Given the description of an element on the screen output the (x, y) to click on. 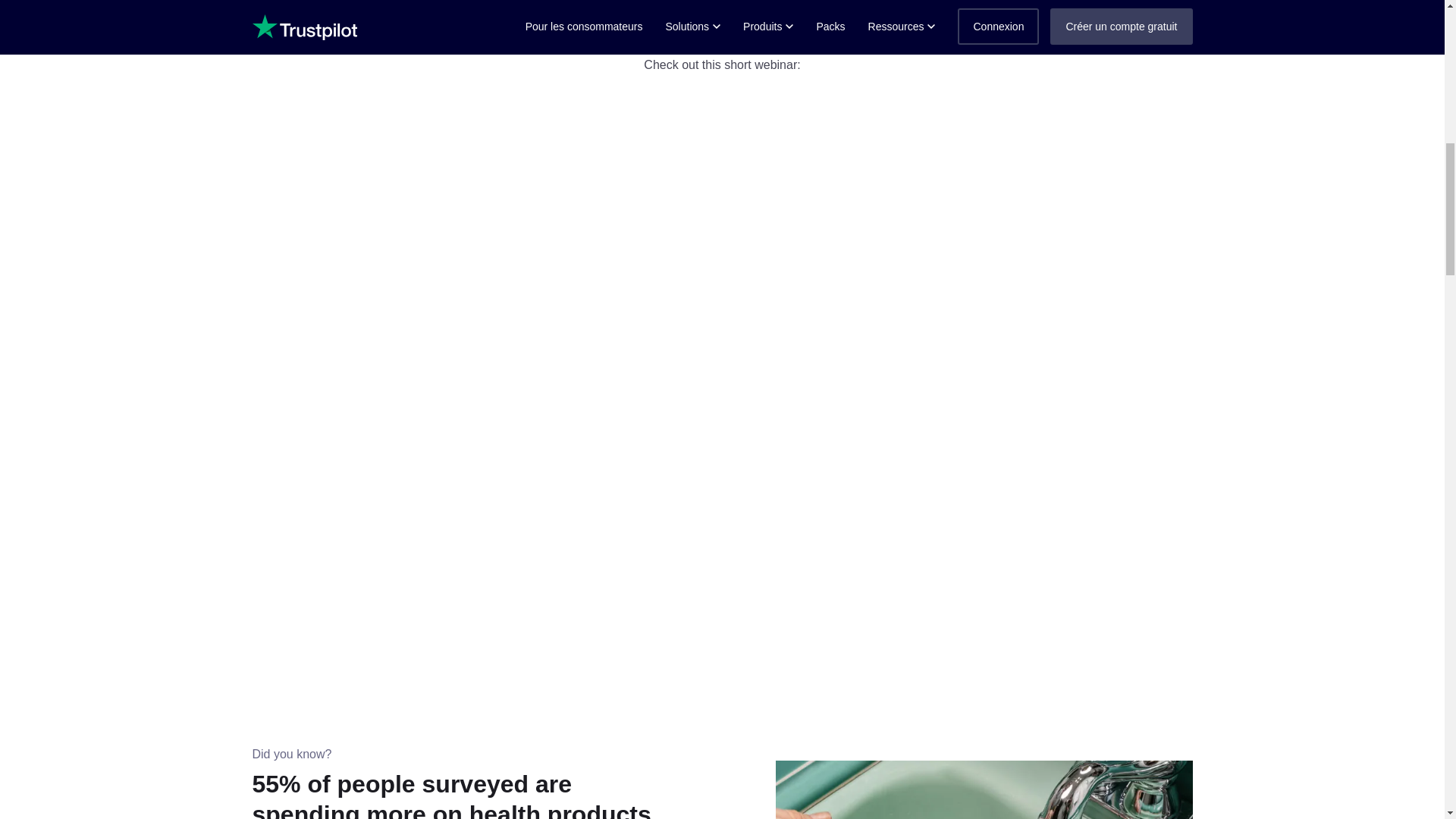
Image shows hands being washed on a sink with water running (983, 789)
